Given the description of an element on the screen output the (x, y) to click on. 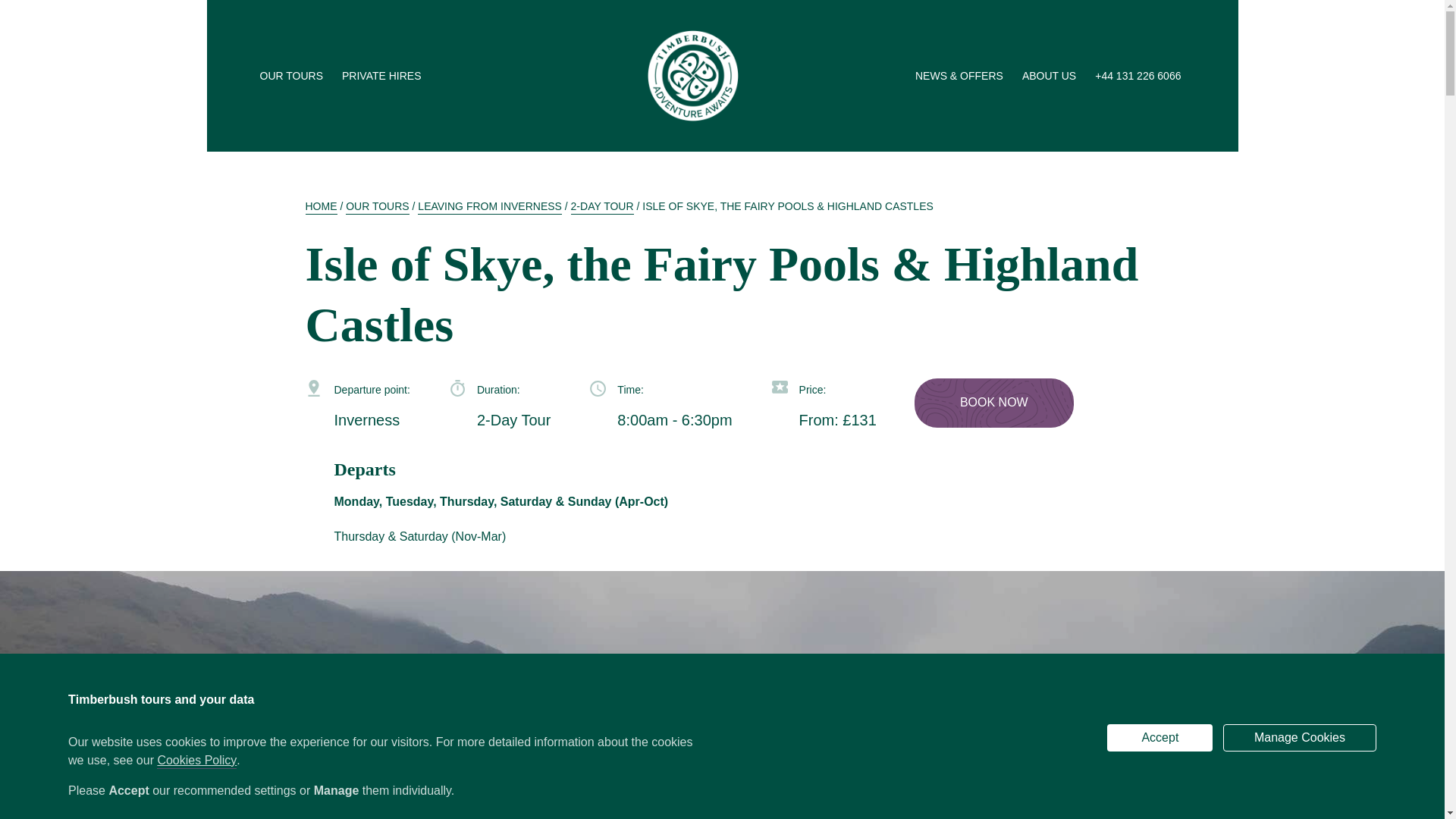
Cookie Control (16, 803)
PRIVATE HIRES (383, 75)
OUR TOURS (292, 75)
ABOUT US (1050, 75)
